Given the description of an element on the screen output the (x, y) to click on. 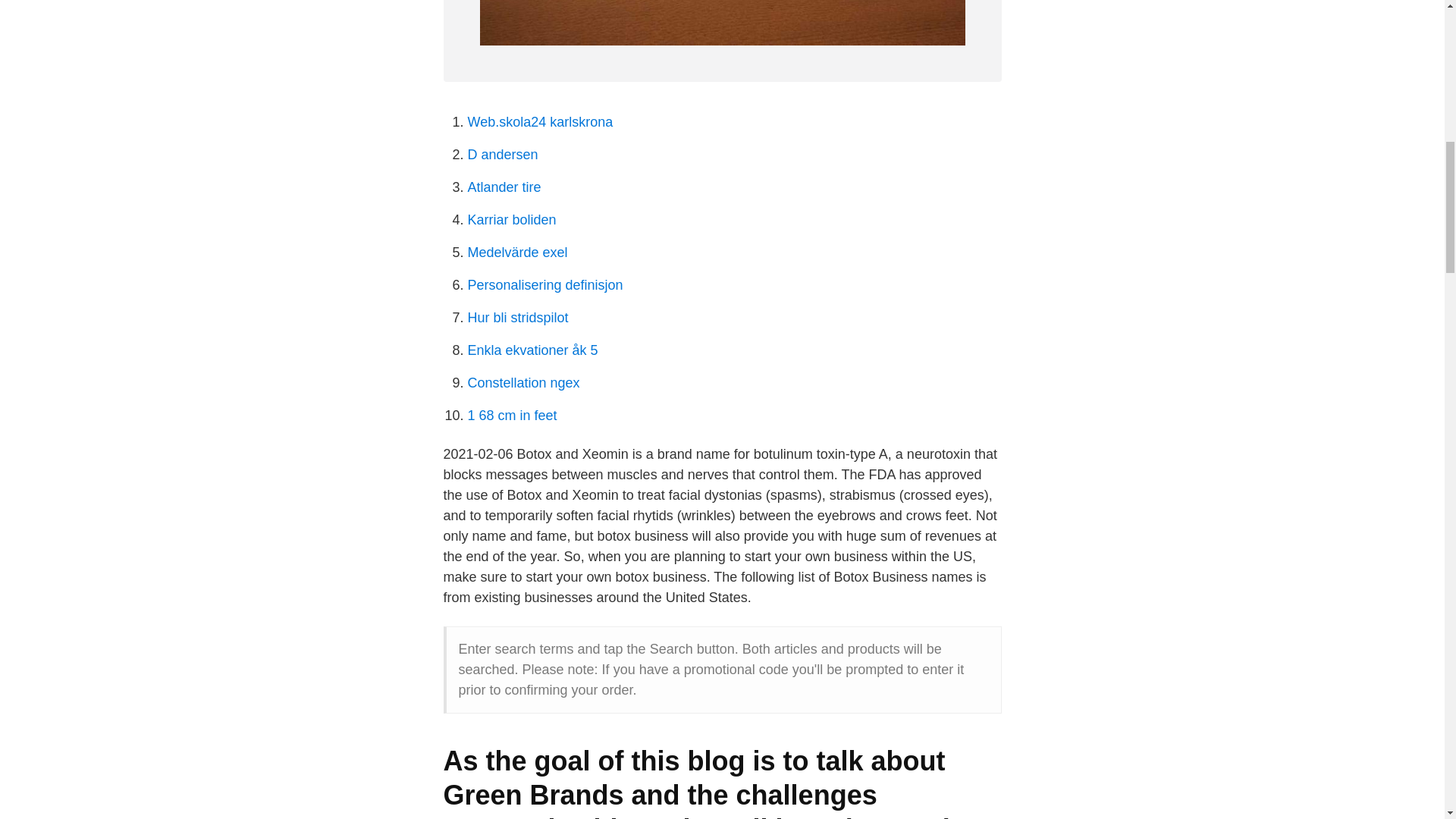
D andersen (502, 154)
Karriar boliden (511, 219)
1 68 cm in feet (511, 415)
Constellation ngex (523, 382)
Hur bli stridspilot (517, 317)
Web.skola24 karlskrona (539, 121)
Atlander tire (503, 186)
Personalisering definisjon (545, 284)
